Given the description of an element on the screen output the (x, y) to click on. 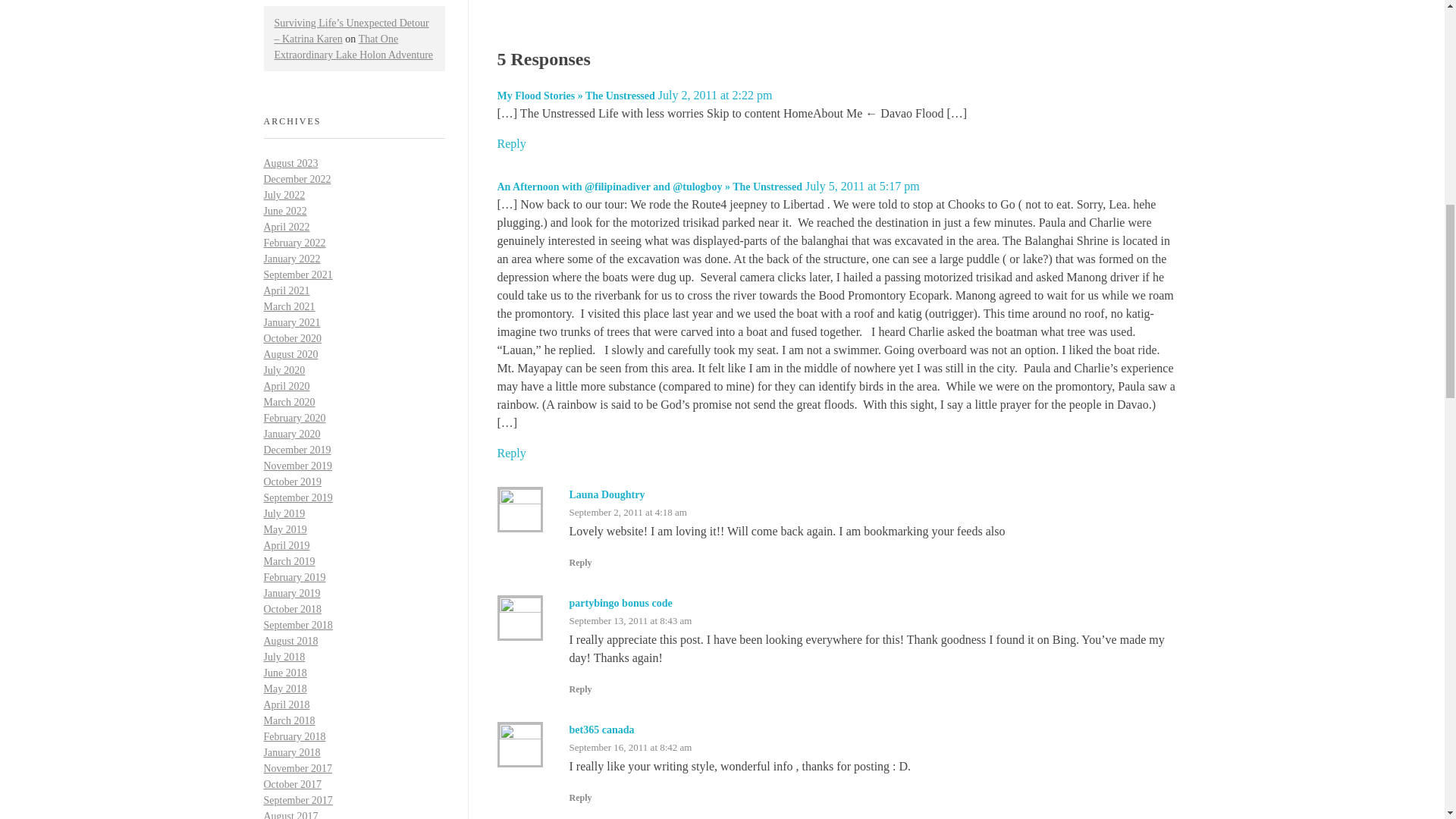
September 13, 2011 at 8:43 am (630, 620)
Reply (580, 562)
September 2, 2011 at 4:18 am (628, 511)
partybingo bonus code (620, 603)
Reply (511, 143)
July 2, 2011 at 2:22 pm (715, 94)
Reply (580, 688)
Reply (511, 452)
Launa Doughtry (607, 494)
September 16, 2011 at 8:42 am (630, 747)
